Given the description of an element on the screen output the (x, y) to click on. 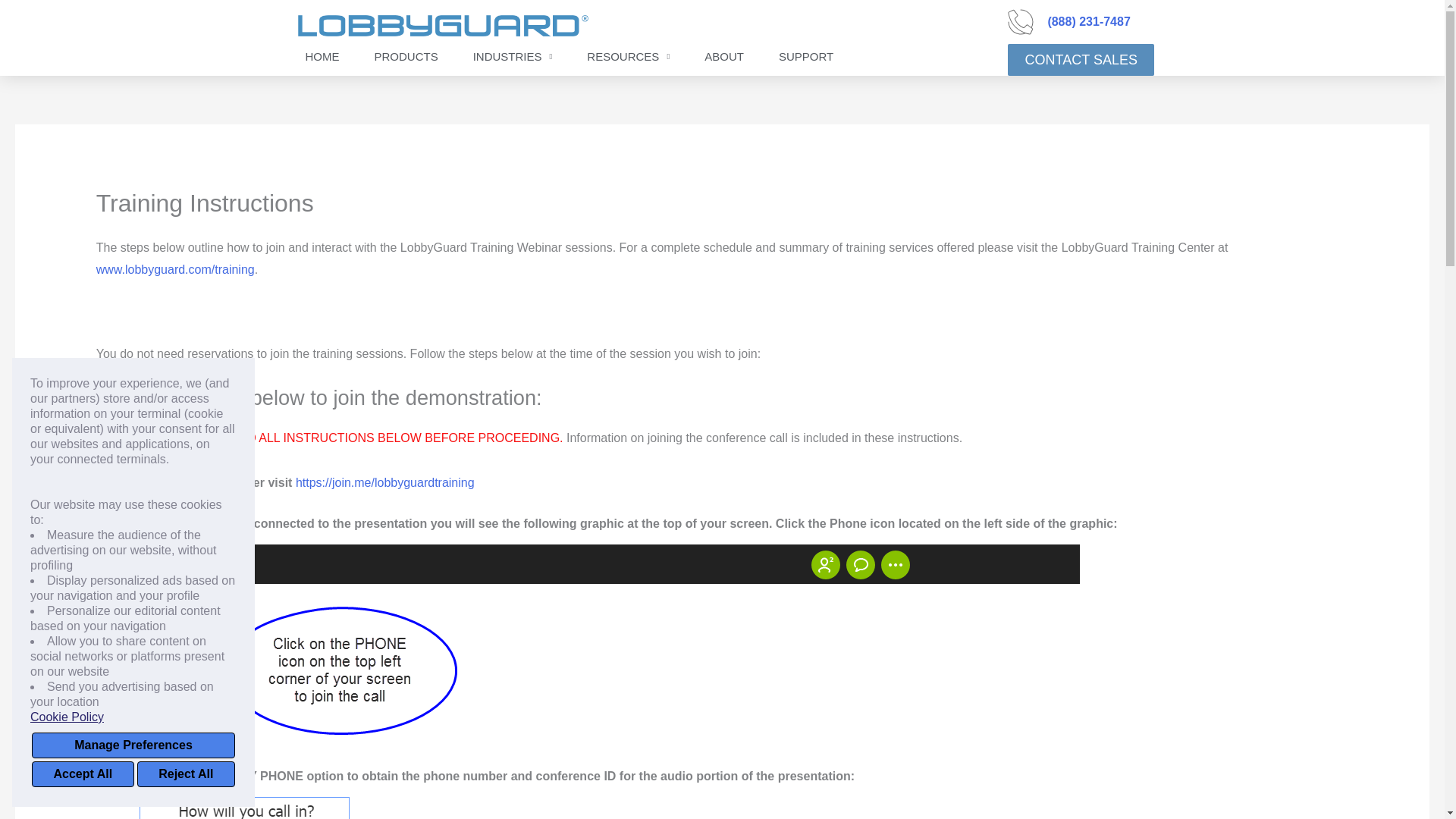
INDUSTRIES (512, 56)
Manage Preferences (133, 745)
LobbyGuard Product Training (175, 269)
Cookie Policy (132, 717)
Accept All (82, 774)
Reject All (185, 774)
PRODUCTS (405, 56)
HOME (321, 56)
